Given the description of an element on the screen output the (x, y) to click on. 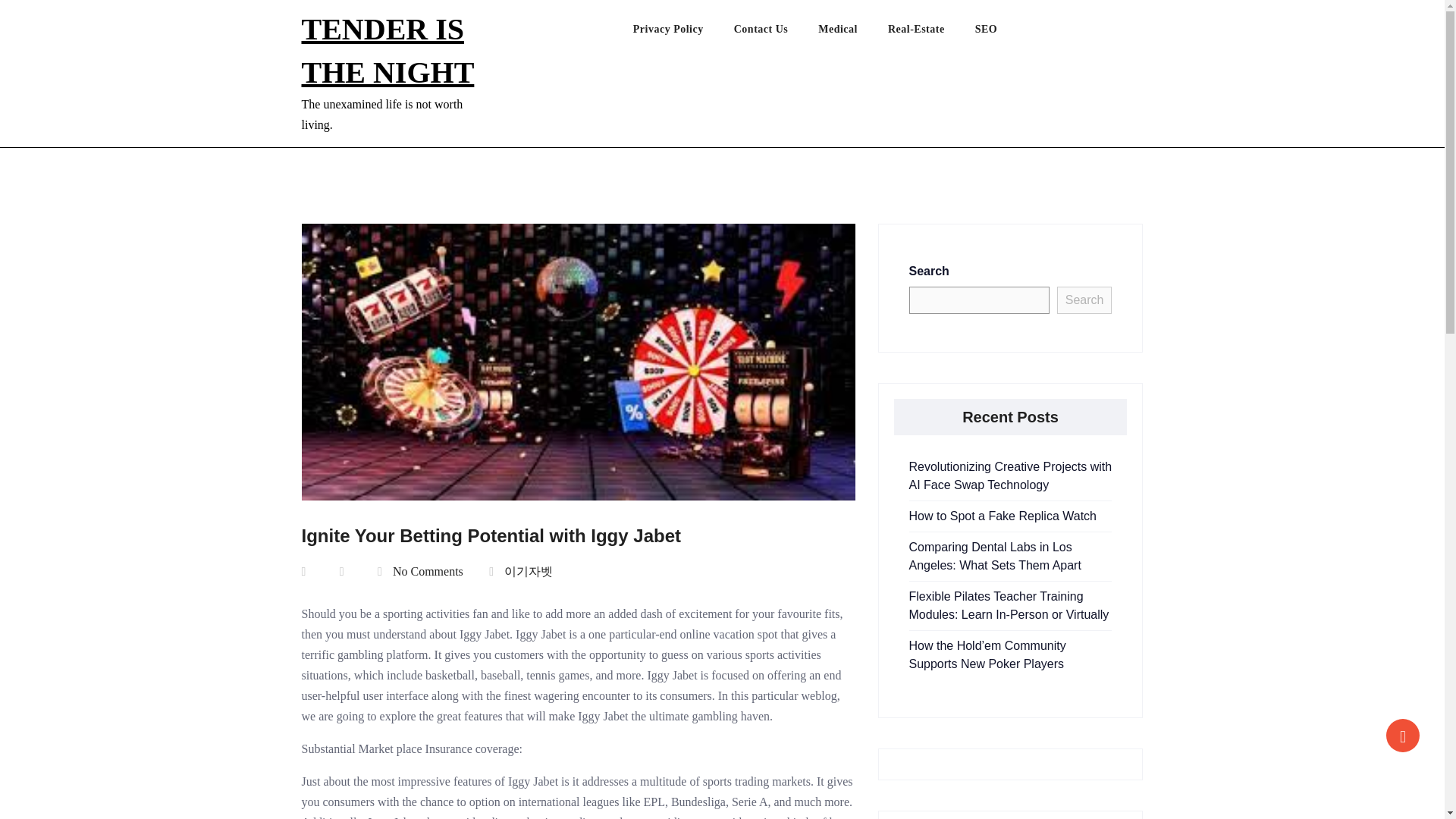
SEO (1001, 32)
TENDER IS THE NIGHT (387, 50)
Privacy Policy (683, 32)
Comparing Dental Labs in Los Angeles: What Sets Them Apart (994, 555)
Search (1084, 299)
How to Spot a Fake Replica Watch (1002, 515)
Contact Us (775, 32)
Medical (853, 32)
